Given the description of an element on the screen output the (x, y) to click on. 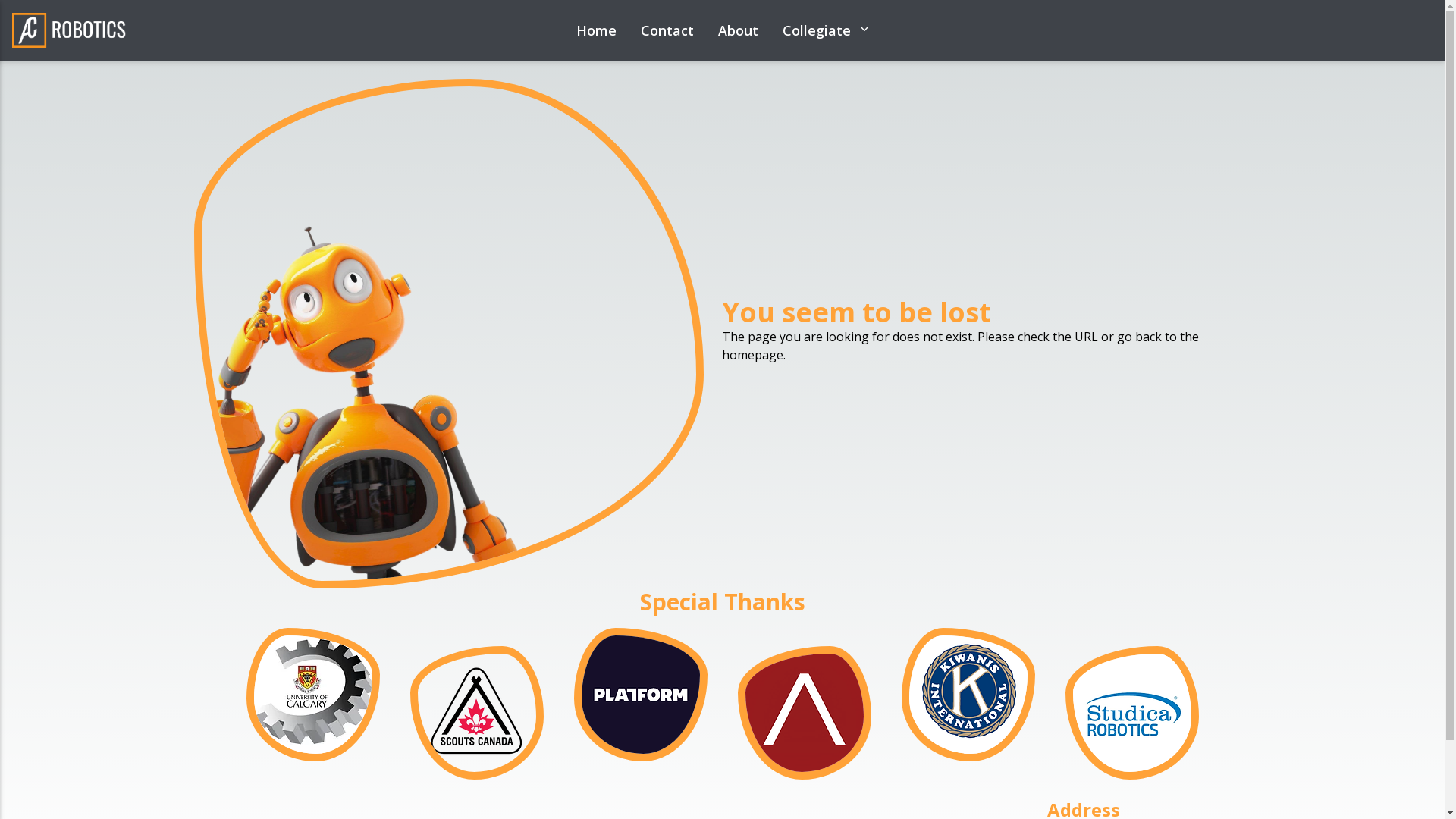
About Element type: text (737, 29)
Collegiate Element type: text (825, 29)
Contact Element type: text (666, 29)
Home Element type: text (596, 29)
